Given the description of an element on the screen output the (x, y) to click on. 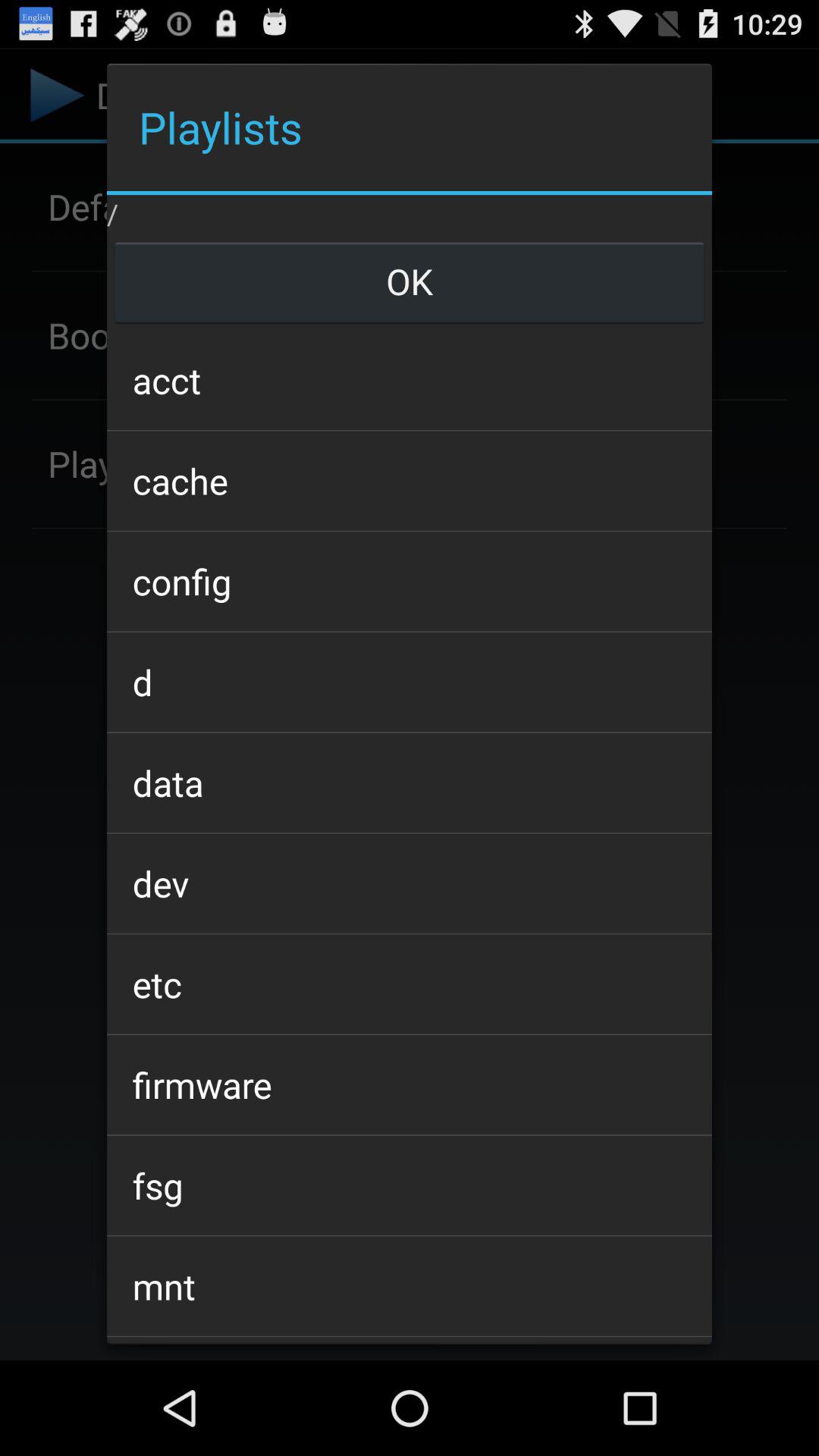
turn off the app below etc item (409, 1084)
